Given the description of an element on the screen output the (x, y) to click on. 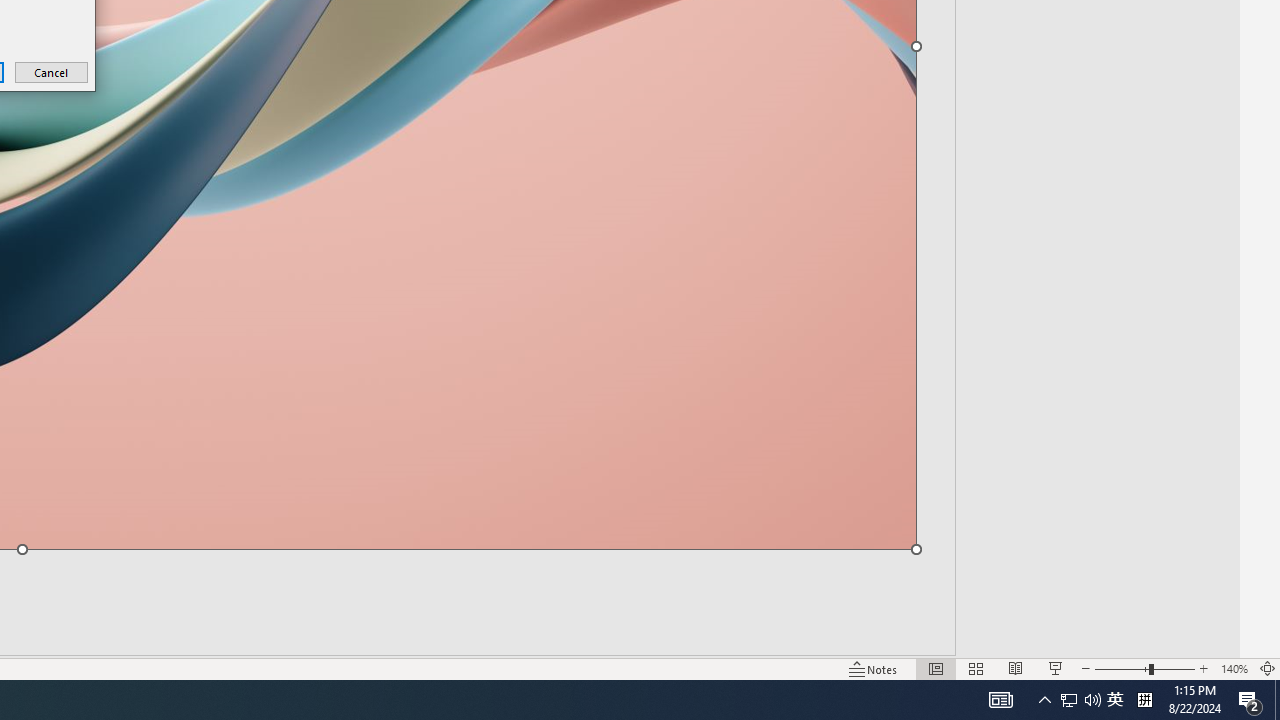
Cancel (51, 72)
Zoom 140% (1234, 668)
